Given the description of an element on the screen output the (x, y) to click on. 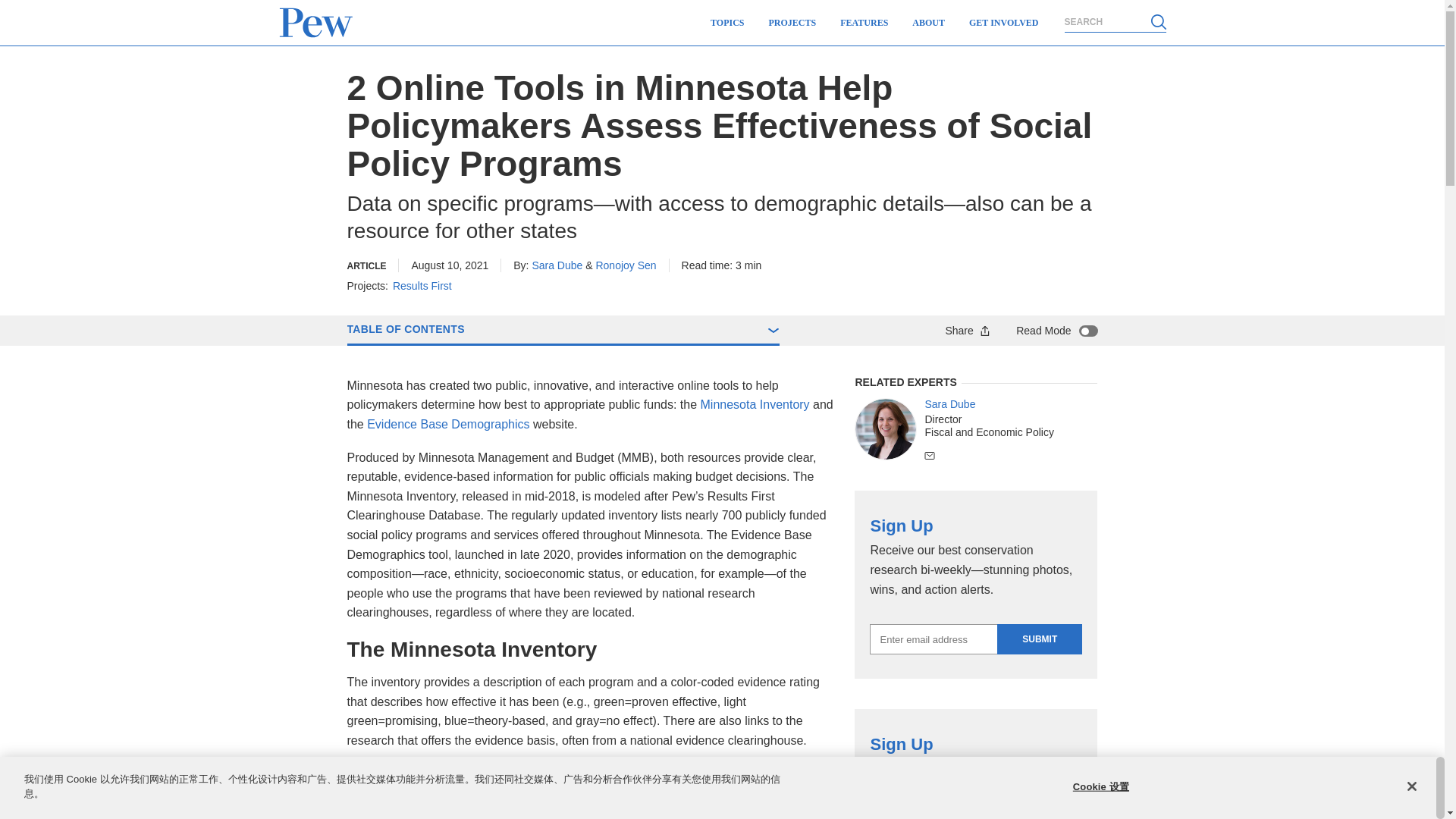
Submit (1039, 639)
TOPICS (726, 22)
Sara Dube (885, 429)
PROJECTS (792, 22)
Table of Contents (562, 330)
